Given the description of an element on the screen output the (x, y) to click on. 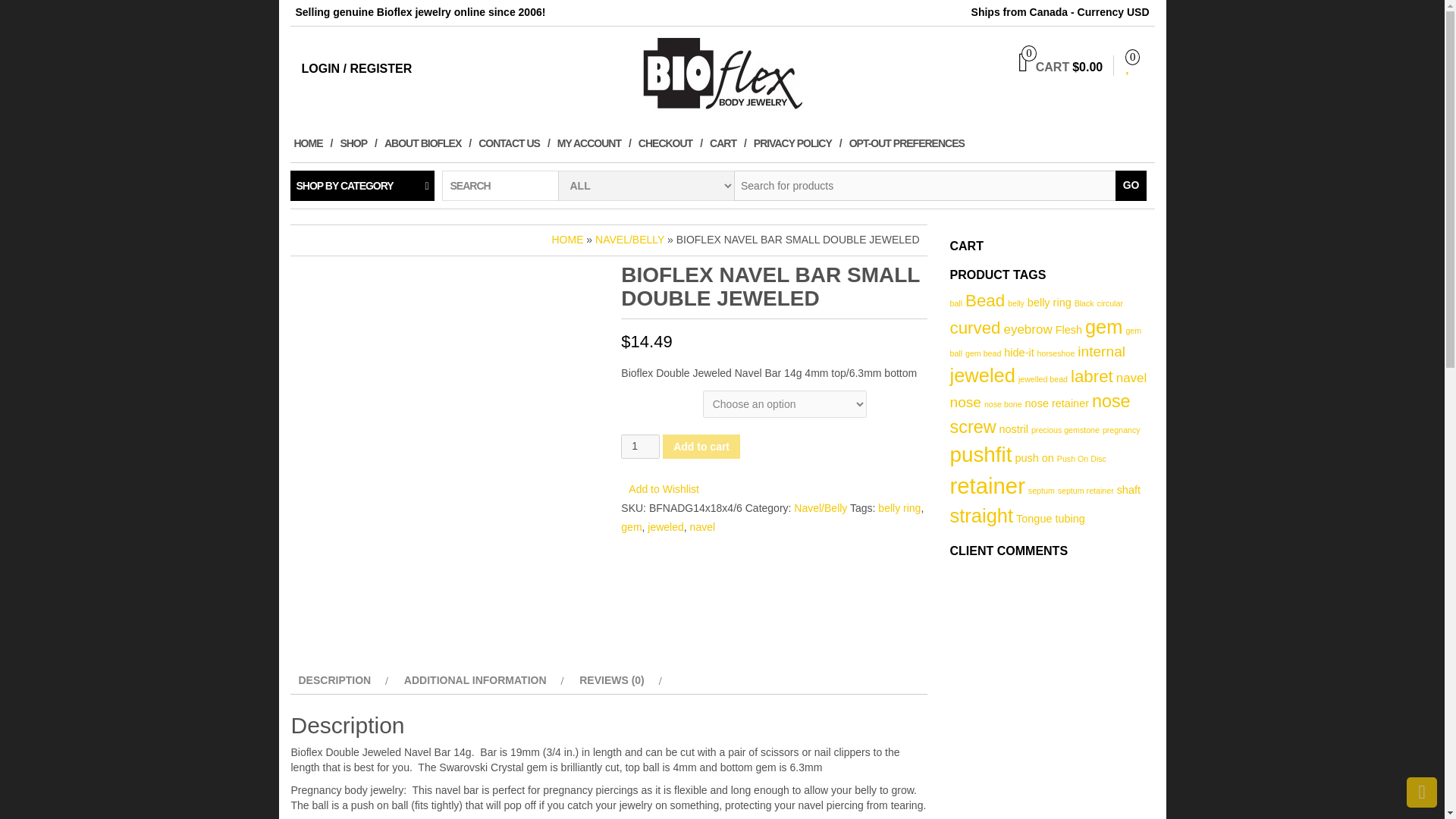
BioflexBodyJewelry.com (722, 75)
Add to Wishlist (663, 489)
1 (640, 445)
GO (1131, 185)
SHOP (358, 143)
View your shopping cart (1059, 67)
navel (702, 526)
belly ring (898, 508)
Add to cart (700, 445)
ABOUT BIOFLEX (427, 143)
PRIVACY POLICY (797, 143)
SHOP BY CATEGORY (361, 185)
Home (312, 143)
Contact Us (513, 143)
CHECKOUT (670, 143)
